Given the description of an element on the screen output the (x, y) to click on. 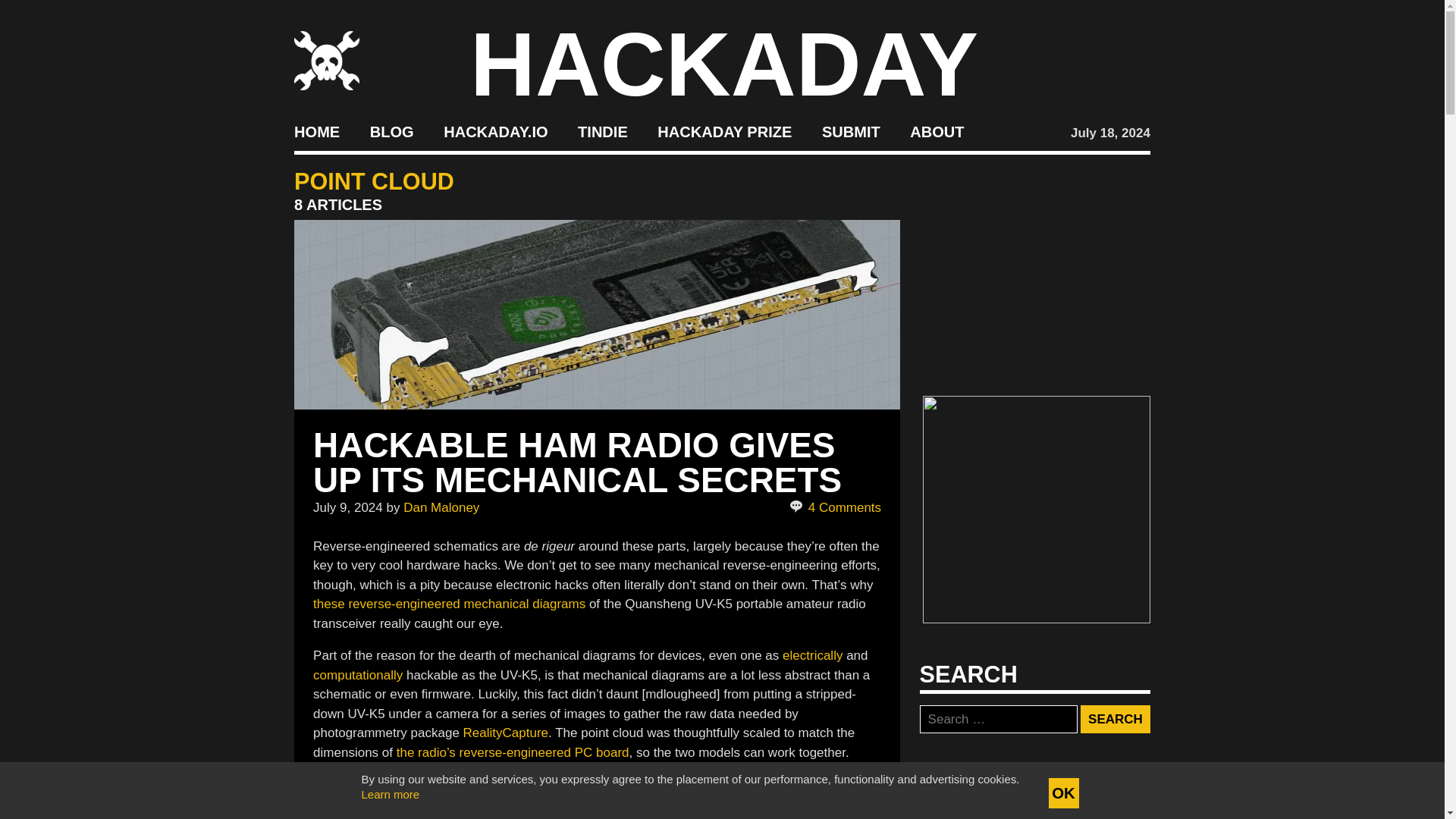
Search (1115, 719)
Posts by Dan Maloney (441, 507)
computationally (358, 674)
TINDIE (602, 131)
Search (1115, 719)
ABOUT (936, 131)
4 Comments (834, 506)
Build Something that Matters (725, 131)
BLOG (391, 131)
July 9, 2024 - 11:30 am (347, 507)
SUBMIT (851, 131)
electrically (813, 655)
HACKADAY (724, 63)
these reverse-engineered mechanical diagrams (449, 603)
